Given the description of an element on the screen output the (x, y) to click on. 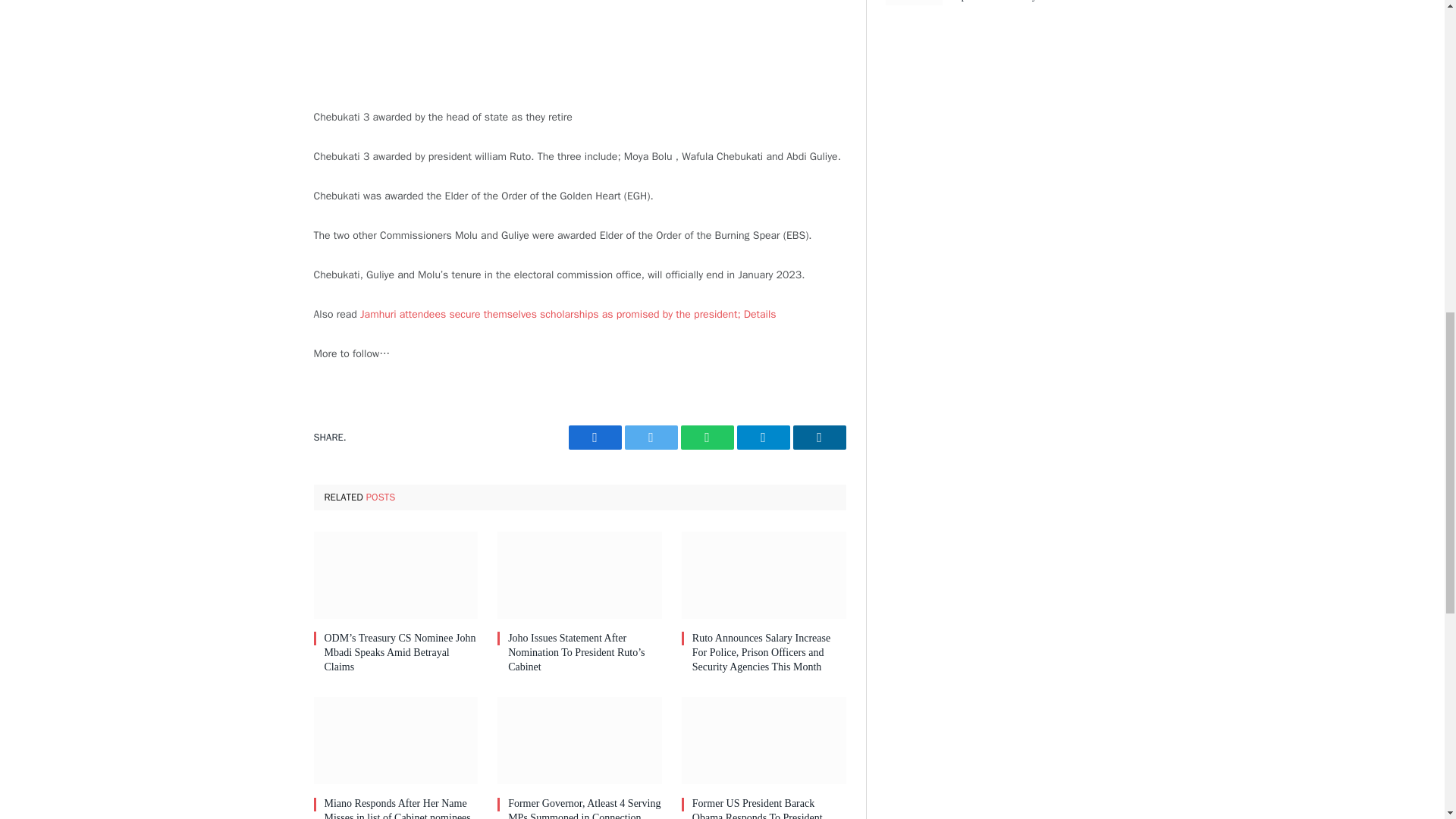
Share on Facebook (595, 437)
Telegram (763, 437)
LinkedIn (819, 437)
WhatsApp (707, 437)
Share on Twitter (651, 437)
Twitter (651, 437)
Facebook (595, 437)
